Given the description of an element on the screen output the (x, y) to click on. 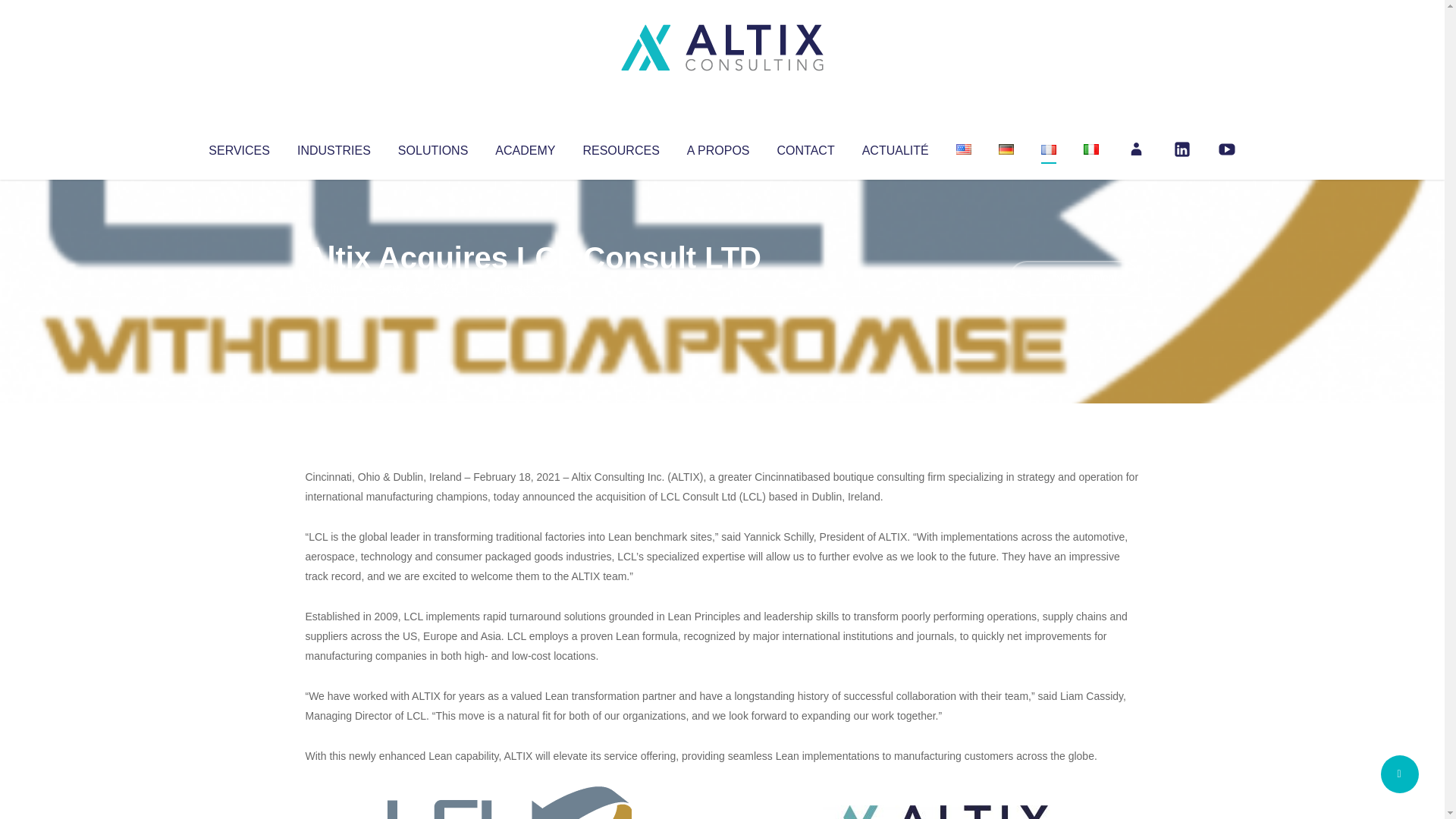
SOLUTIONS (432, 146)
No Comments (1073, 278)
RESOURCES (620, 146)
SERVICES (238, 146)
Uncategorized (530, 287)
A PROPOS (718, 146)
ACADEMY (524, 146)
Articles par Altix (333, 287)
INDUSTRIES (334, 146)
Altix (333, 287)
